Given the description of an element on the screen output the (x, y) to click on. 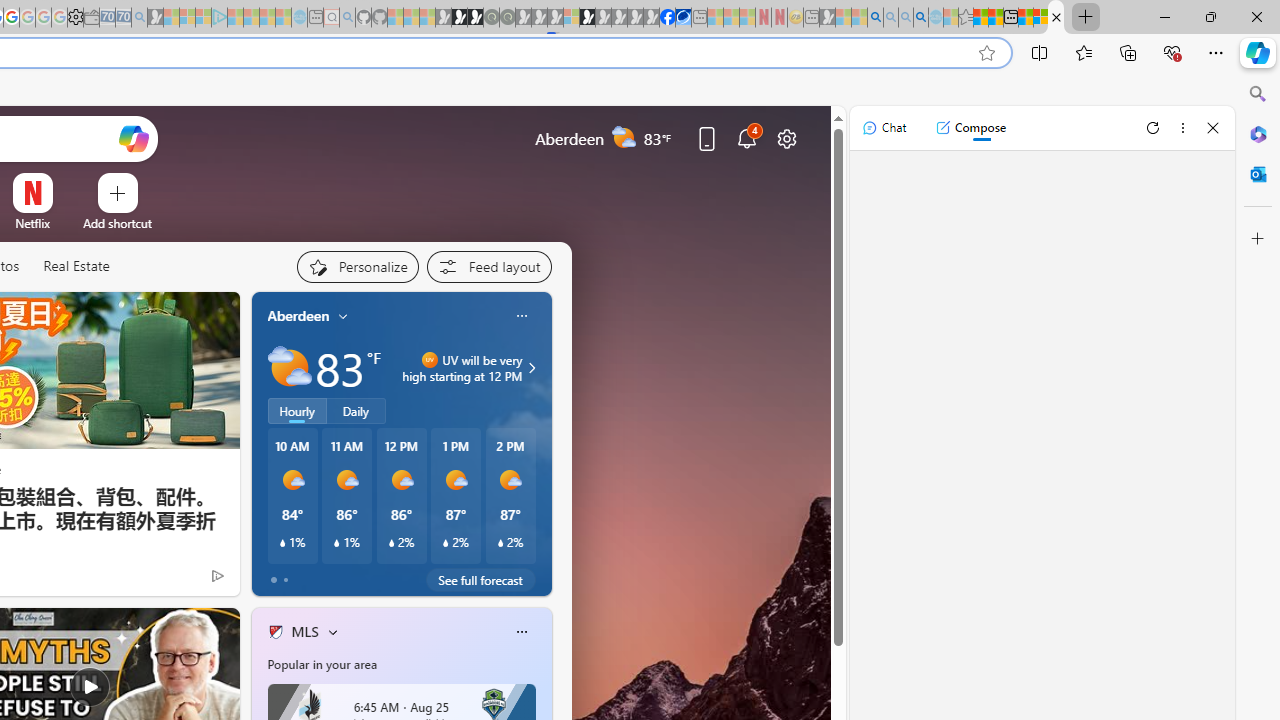
Feed settings (488, 266)
UV will be very high starting at 12 PM (529, 367)
MSN - Sleeping (827, 17)
Home | Sky Blue Bikes - Sky Blue Bikes - Sleeping (299, 17)
Bing Real Estate - Home sales and rental listings - Sleeping (139, 17)
